Given the description of an element on the screen output the (x, y) to click on. 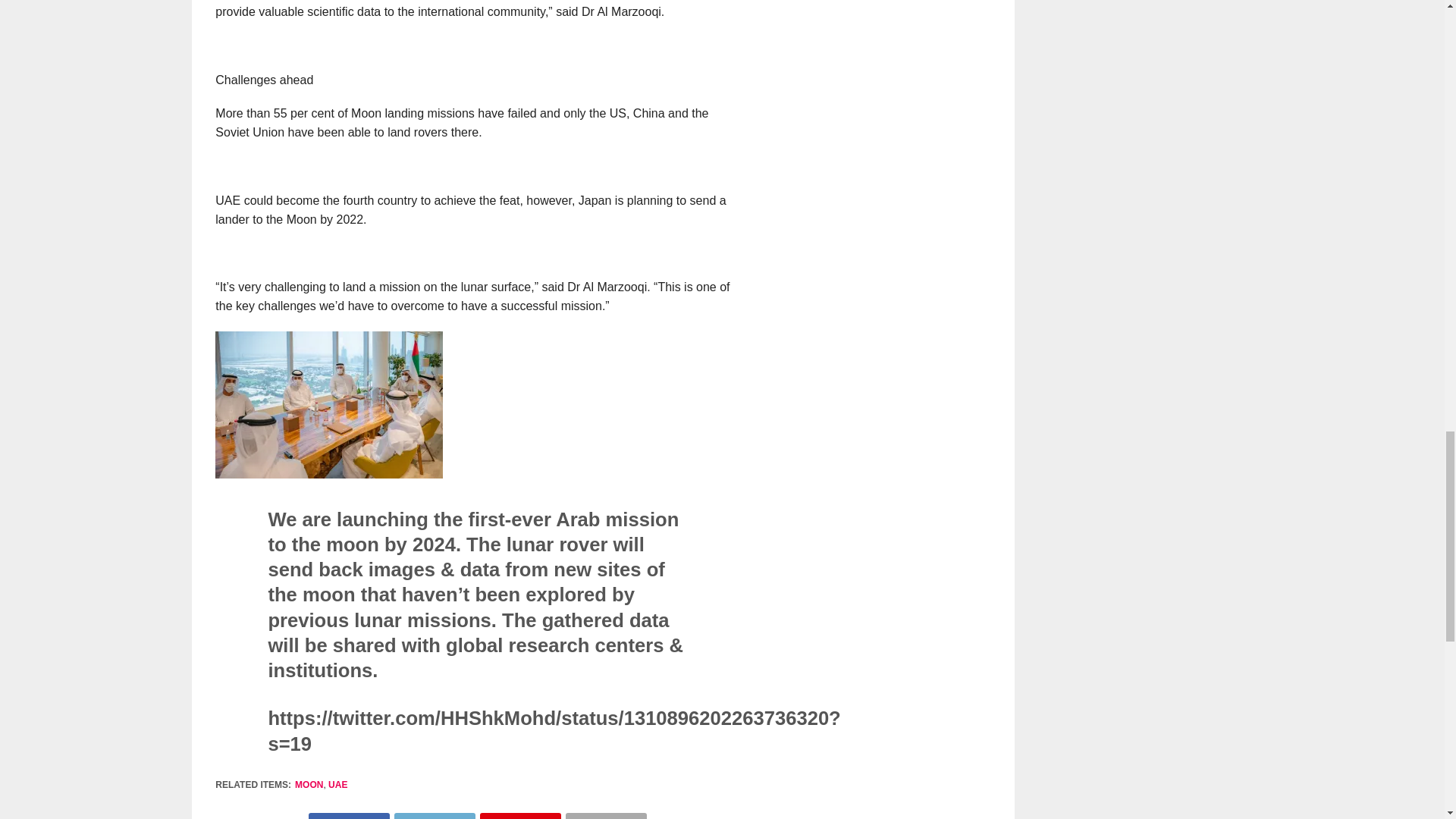
SHARE (520, 815)
SHARE (349, 815)
TWEET (434, 815)
Share on Facebook (349, 815)
MOON (309, 784)
Tweet This Post (434, 815)
EMAIL (605, 815)
Pin This Post (520, 815)
UAE (338, 784)
